Given the description of an element on the screen output the (x, y) to click on. 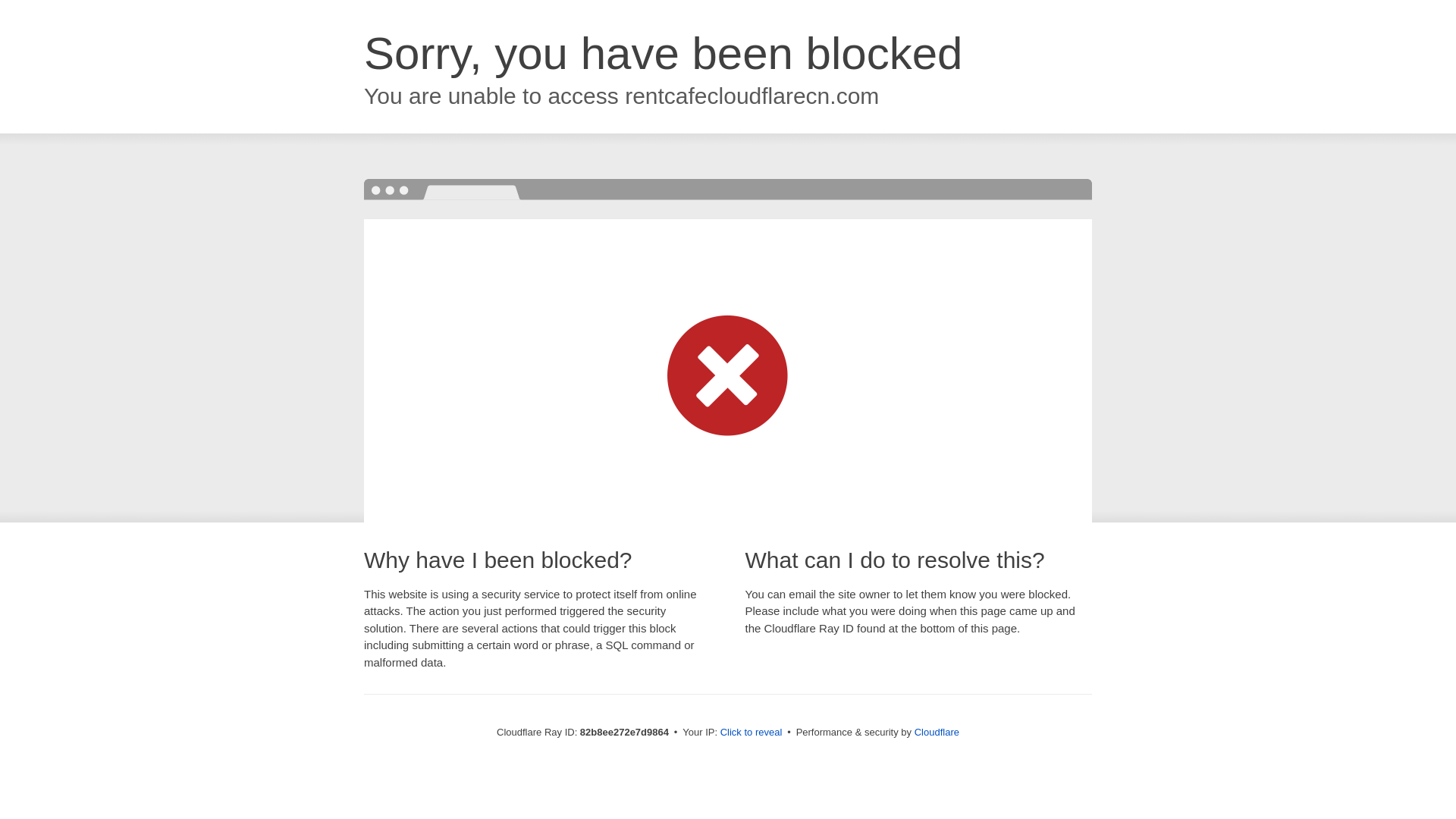
Cloudflare Element type: text (936, 731)
Click to reveal Element type: text (751, 732)
